Given the description of an element on the screen output the (x, y) to click on. 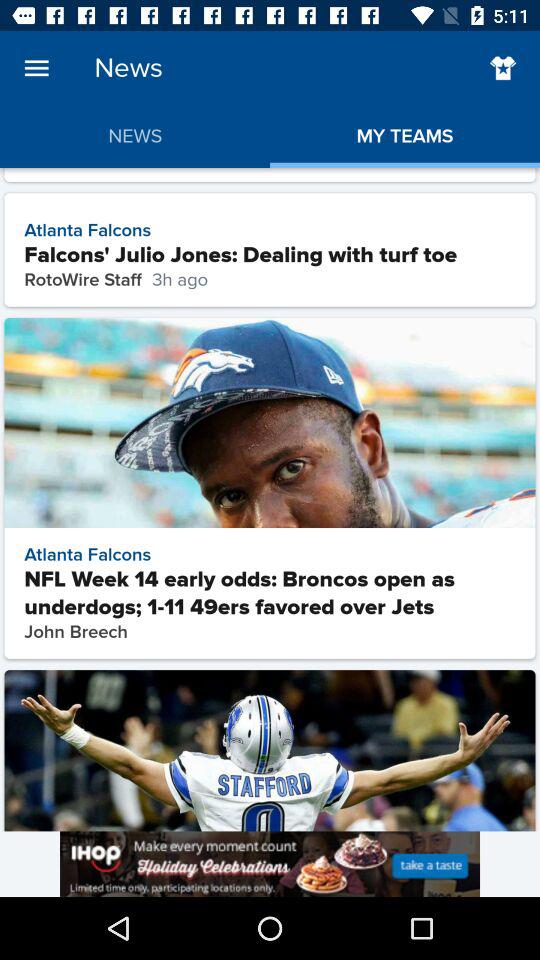
go to advert (270, 864)
